Given the description of an element on the screen output the (x, y) to click on. 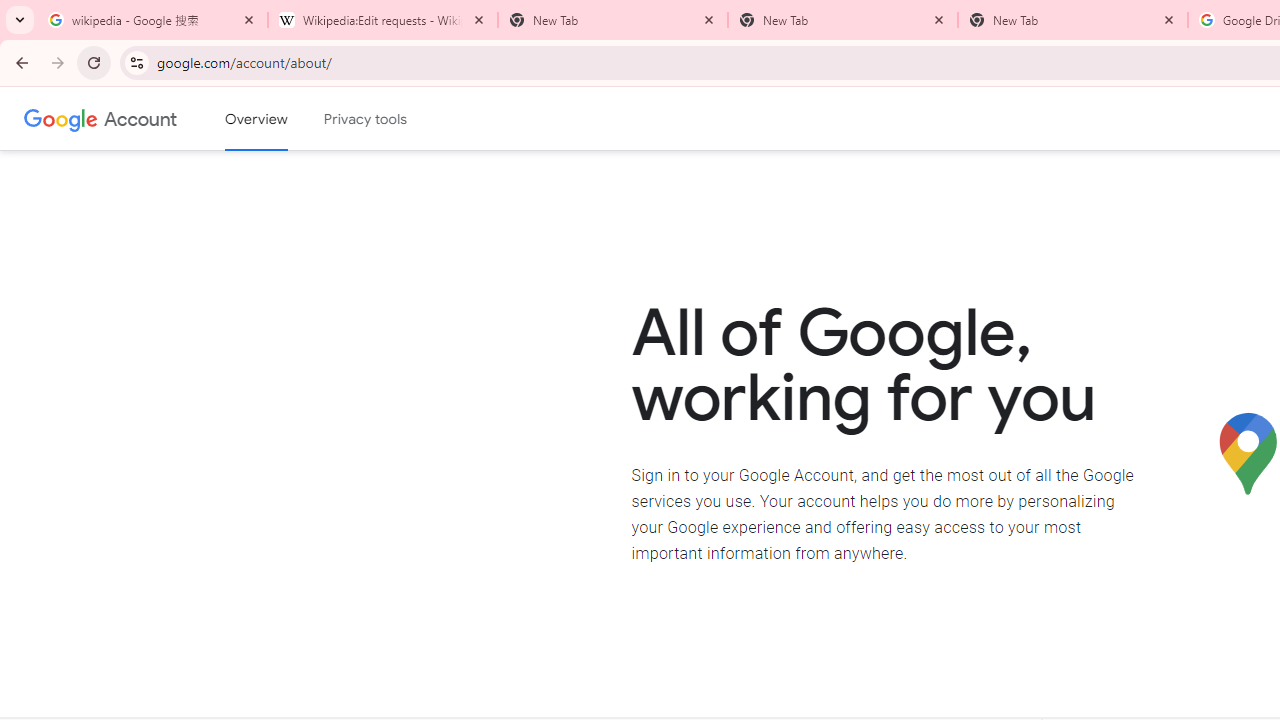
New Tab (842, 20)
Wikipedia:Edit requests - Wikipedia (382, 20)
Google Account (140, 118)
Google Account overview (256, 119)
Google logo (61, 118)
Skip to Content (285, 115)
New Tab (1072, 20)
Privacy tools (365, 119)
